Given the description of an element on the screen output the (x, y) to click on. 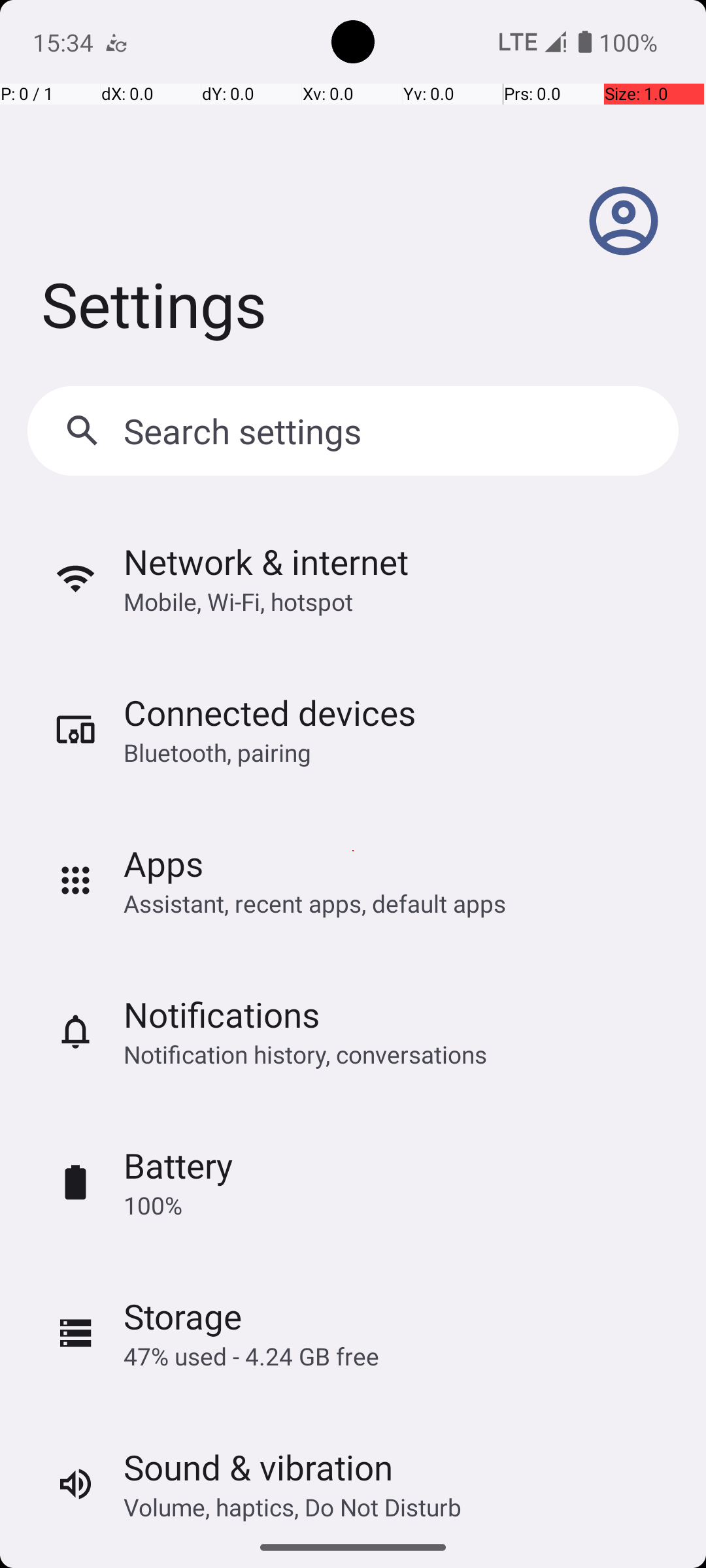
47% used - 4.24 GB free Element type: android.widget.TextView (251, 1355)
